Given the description of an element on the screen output the (x, y) to click on. 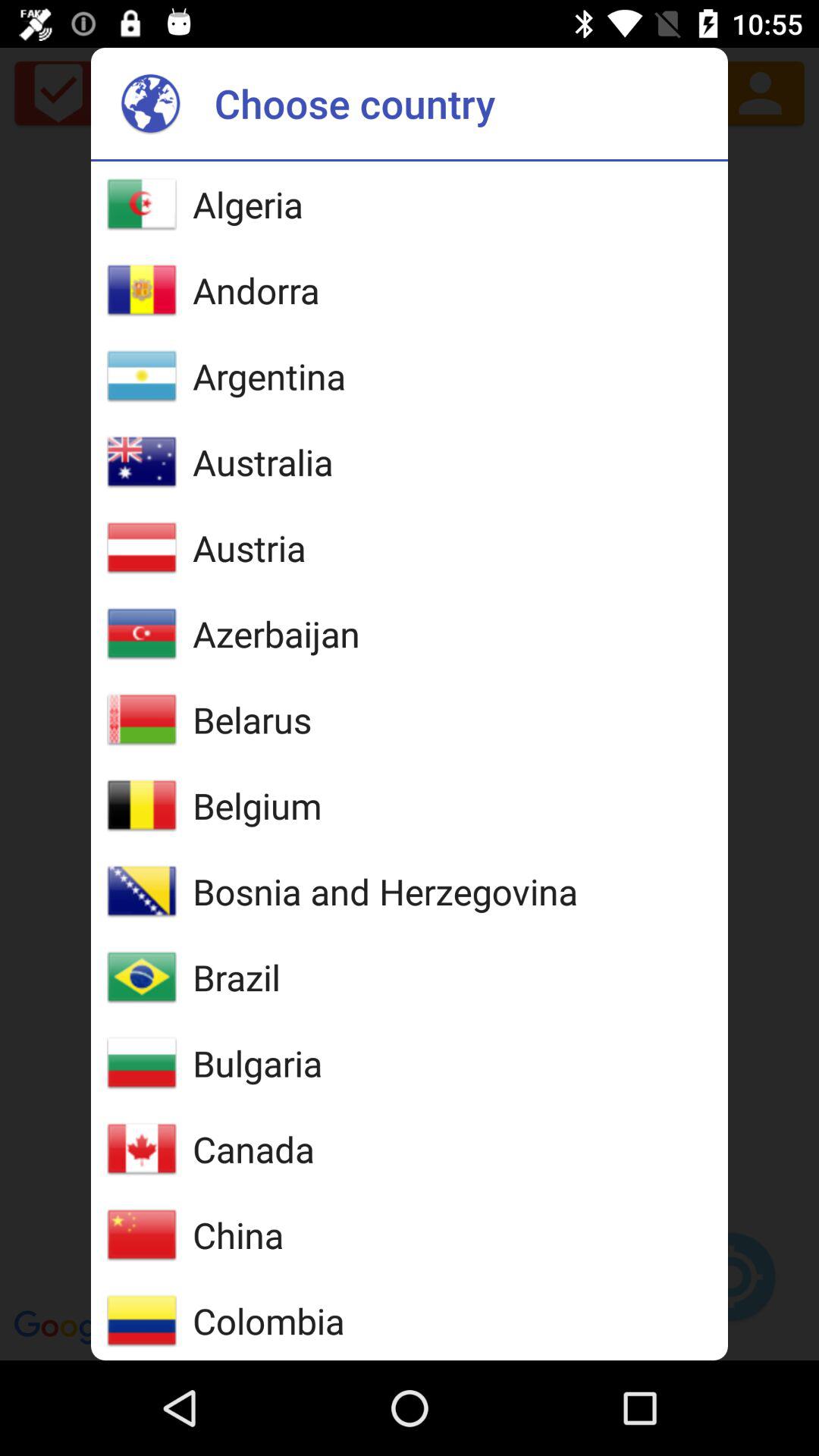
choose icon above brazil (384, 891)
